Given the description of an element on the screen output the (x, y) to click on. 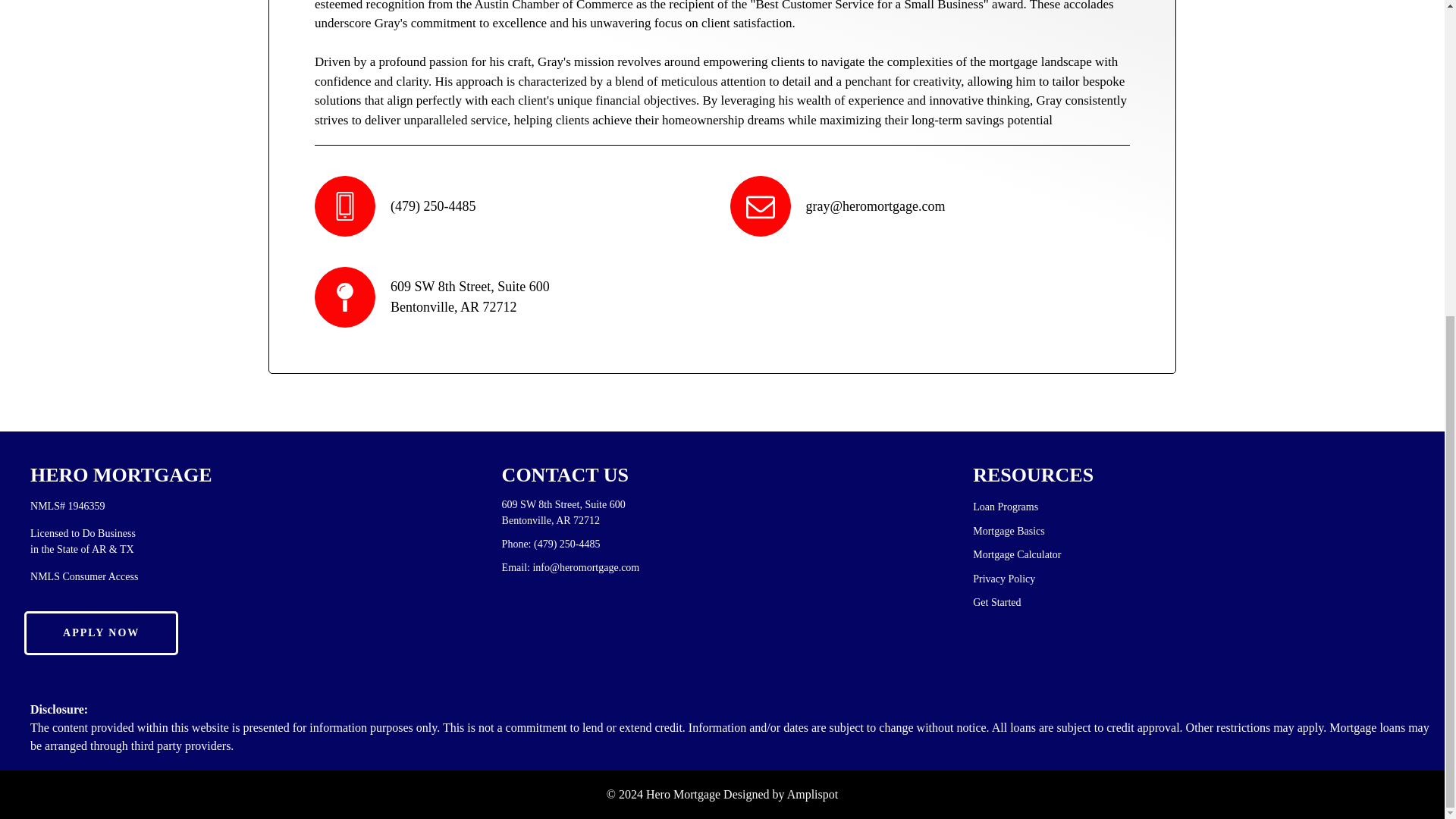
Get Started (996, 602)
NMLS Consumer Access (84, 576)
Mortgage Calculator (1016, 554)
Mortgage Basics (1007, 531)
APPLY NOW (100, 632)
Privacy Policy (1003, 578)
Loan Programs (1005, 506)
